Given the description of an element on the screen output the (x, y) to click on. 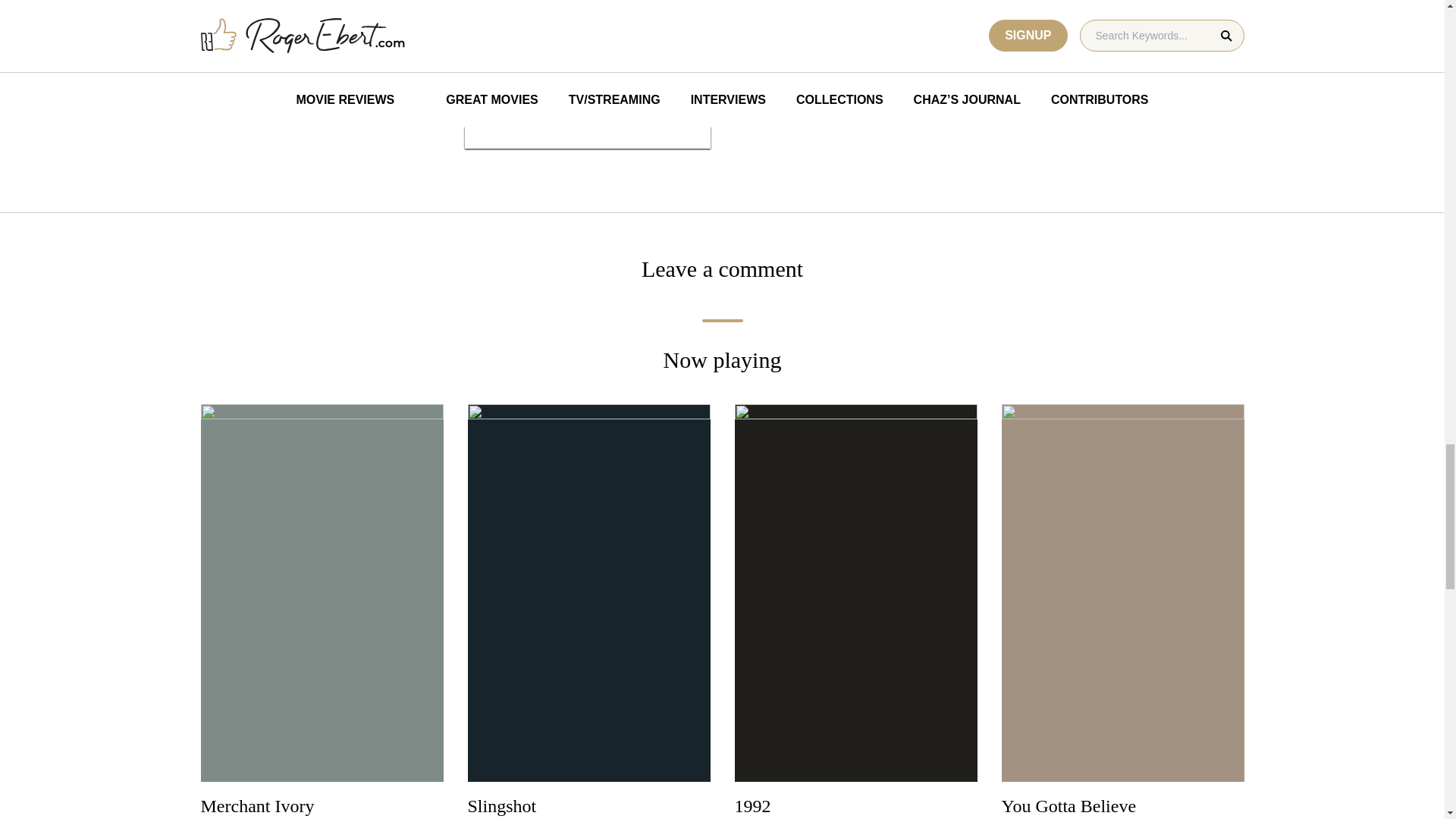
Michael Winterbottom (1055, 9)
Marisa Tomei (764, 5)
Kerry Fox (756, 26)
